Given the description of an element on the screen output the (x, y) to click on. 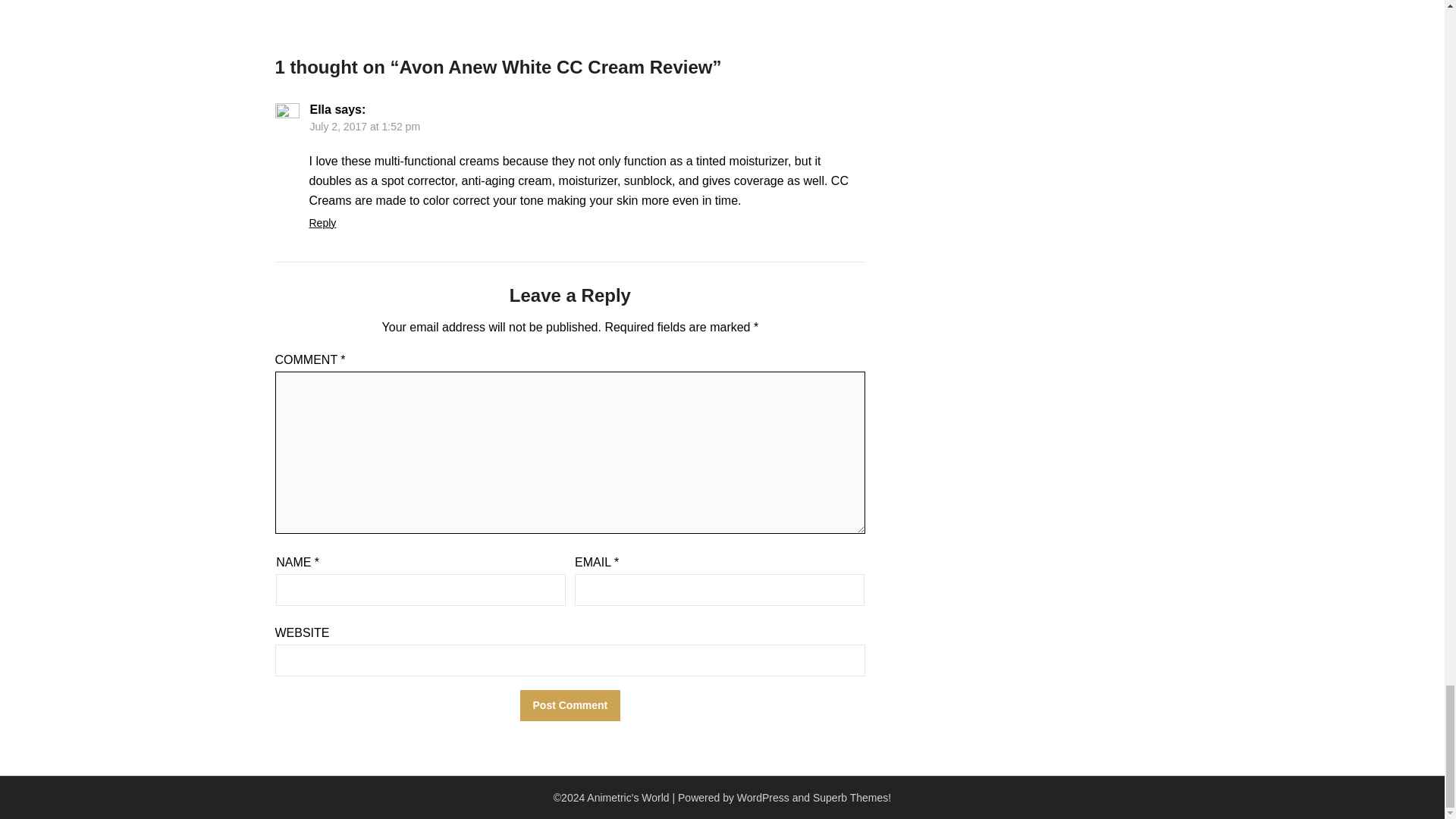
Superb Themes! (851, 797)
Post Comment (570, 705)
July 2, 2017 at 1:52 pm (364, 126)
Reply (322, 223)
Post Comment (570, 705)
